Given the description of an element on the screen output the (x, y) to click on. 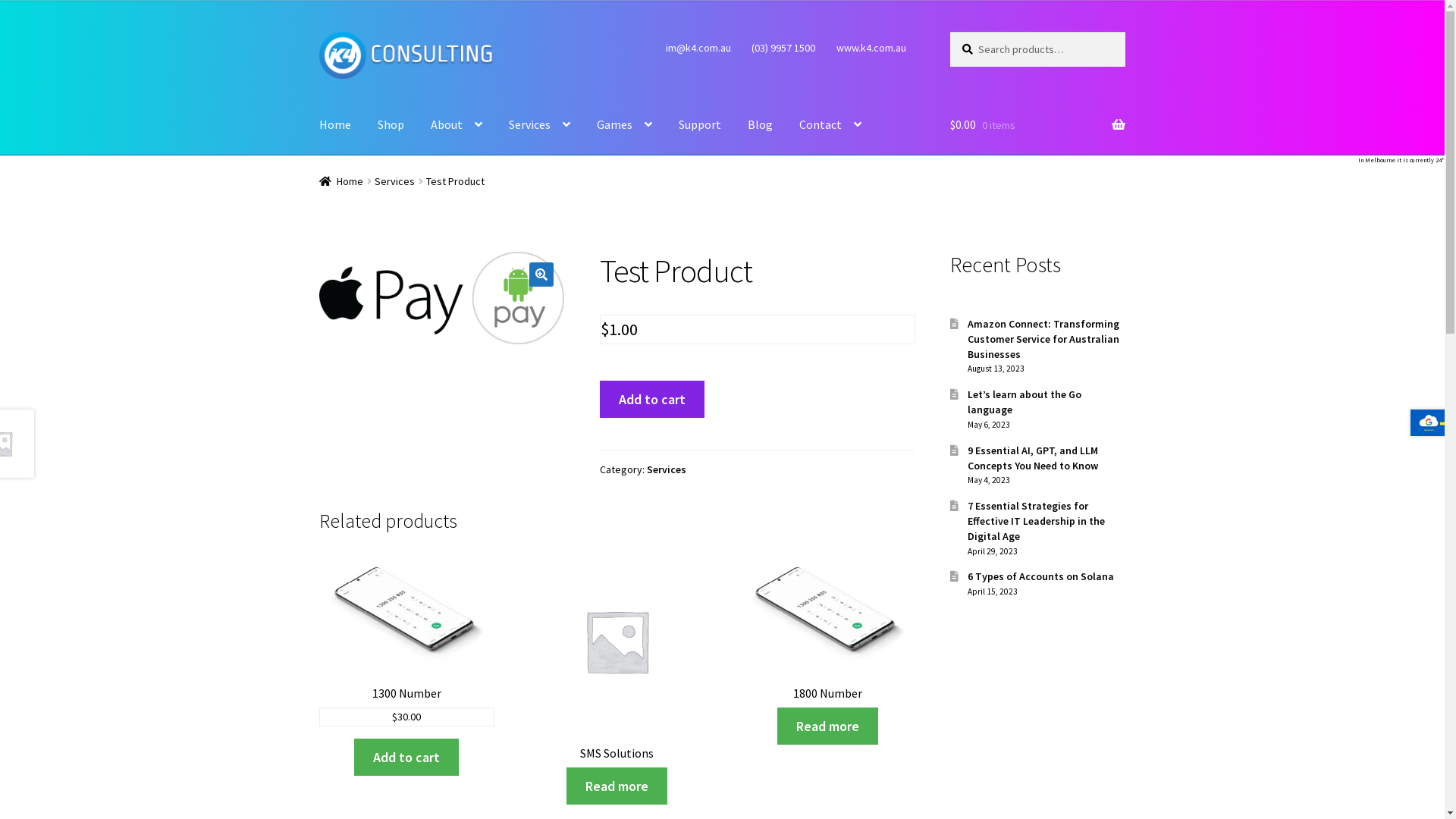
About Element type: text (456, 124)
1300 Number
$30.00 Element type: text (406, 639)
Services Element type: text (394, 181)
(03) 9957 1500 Element type: text (783, 47)
Contact Element type: text (830, 124)
Home Element type: text (341, 181)
1800 Number Element type: text (827, 627)
$0.00 0 items Element type: text (1037, 124)
Support Element type: text (699, 124)
6 Types of Accounts on Solana Element type: text (1040, 576)
Read more Element type: text (616, 785)
Read more Element type: text (827, 725)
Services Element type: text (666, 469)
Games Element type: text (624, 124)
payment-logos Element type: hover (441, 297)
Add to cart Element type: text (651, 398)
Search Element type: text (949, 31)
Skip to navigation Element type: text (318, 31)
im@k4.com.au Element type: text (697, 47)
www.k4.com.au Element type: text (870, 47)
Shop Element type: text (390, 124)
Services Element type: text (539, 124)
Blog Element type: text (759, 124)
SMS Solutions Element type: text (616, 656)
Add to cart Element type: text (406, 756)
9 Essential AI, GPT, and LLM Concepts You Need to Know Element type: text (1032, 457)
Home Element type: text (335, 124)
